Given the description of an element on the screen output the (x, y) to click on. 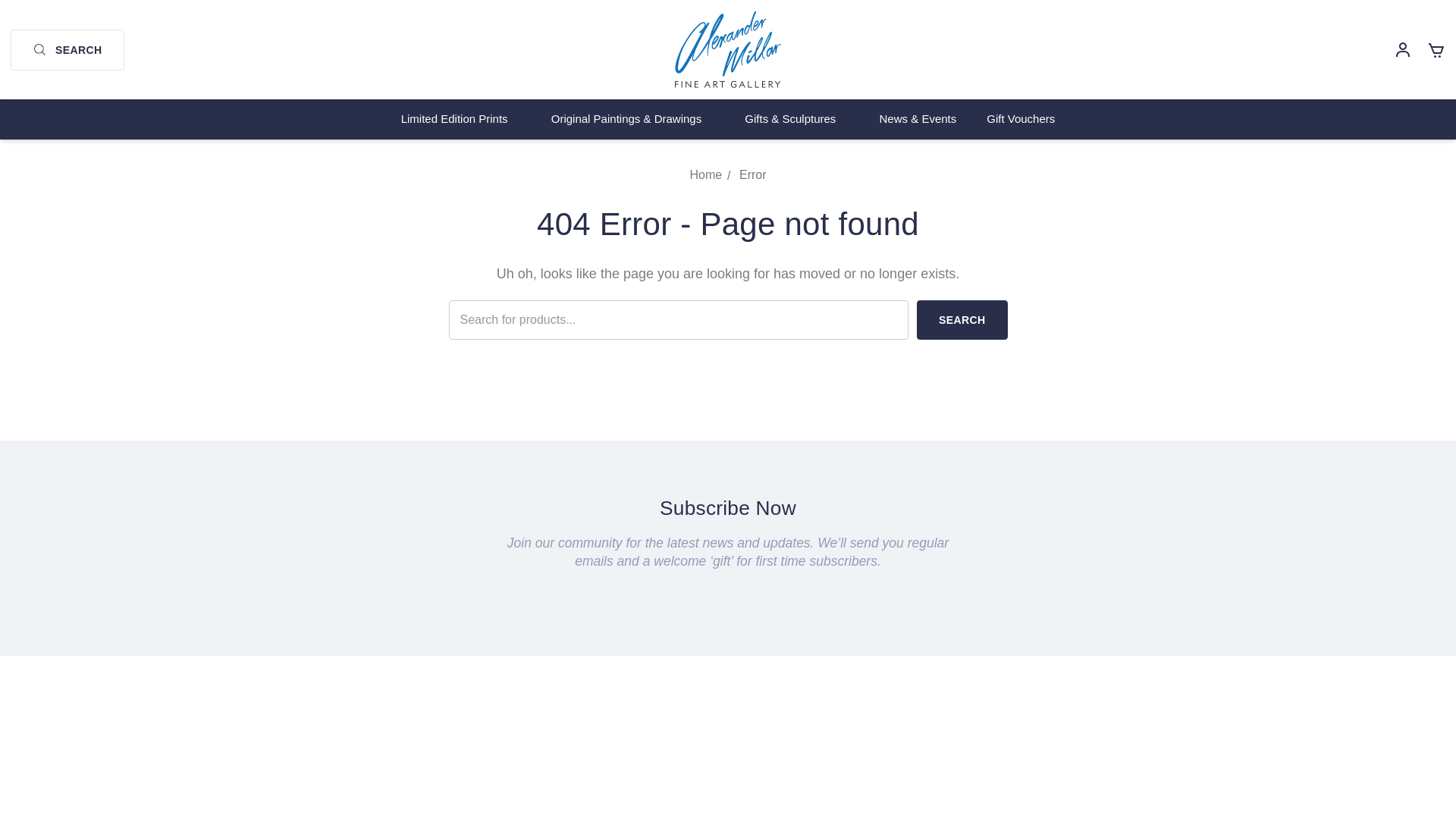
Alexandermillar.com (727, 49)
Gift Vouchers (1020, 119)
SEARCH (66, 49)
Search (962, 319)
Limited Edition Prints (460, 119)
